Given the description of an element on the screen output the (x, y) to click on. 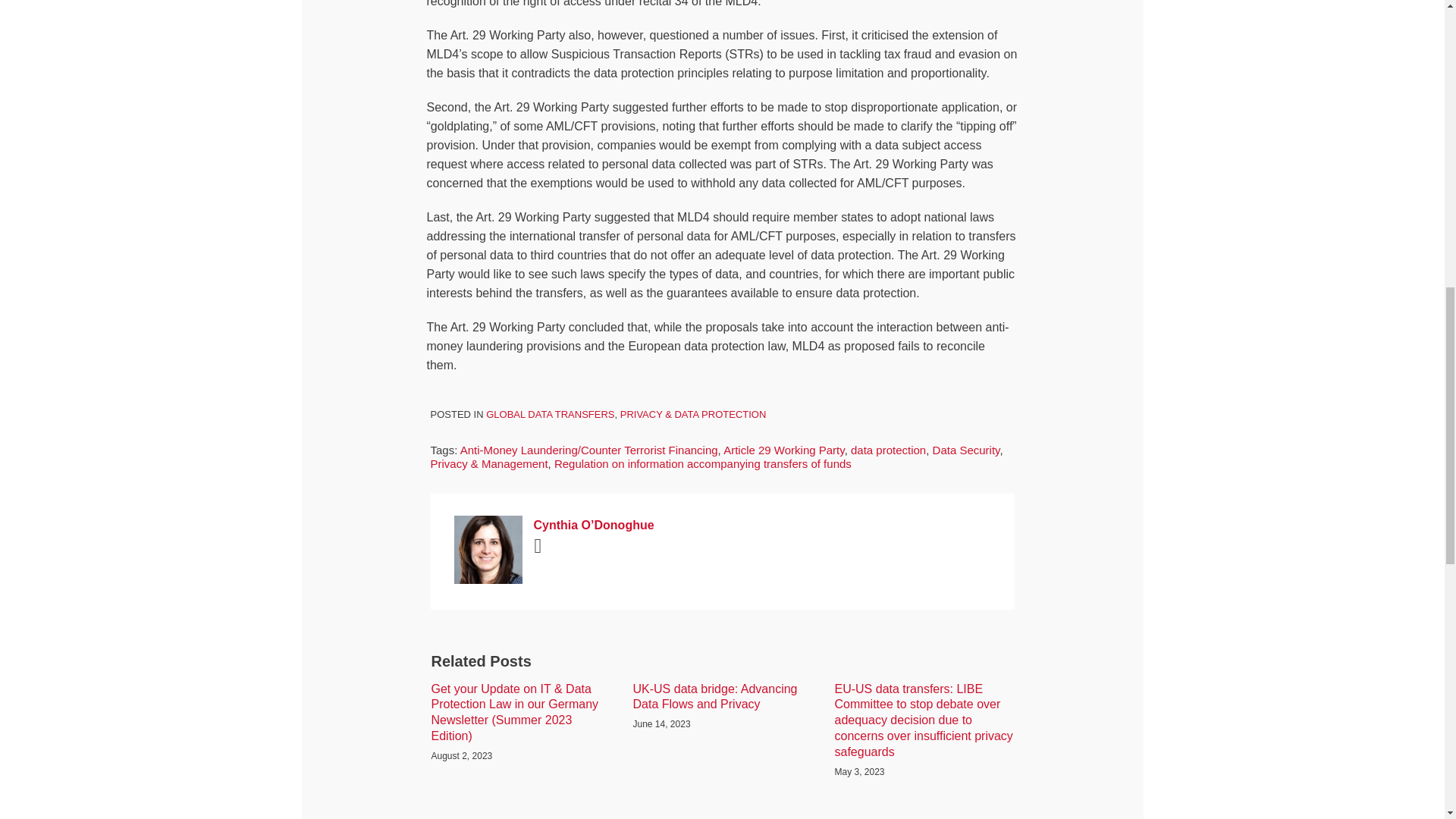
Data Security (966, 449)
UK-US data bridge: Advancing Data Flows and Privacy (720, 697)
Article 29 Working Party (783, 449)
data protection (888, 449)
Regulation on information accompanying transfers of funds (702, 463)
GLOBAL DATA TRANSFERS (550, 414)
